Given the description of an element on the screen output the (x, y) to click on. 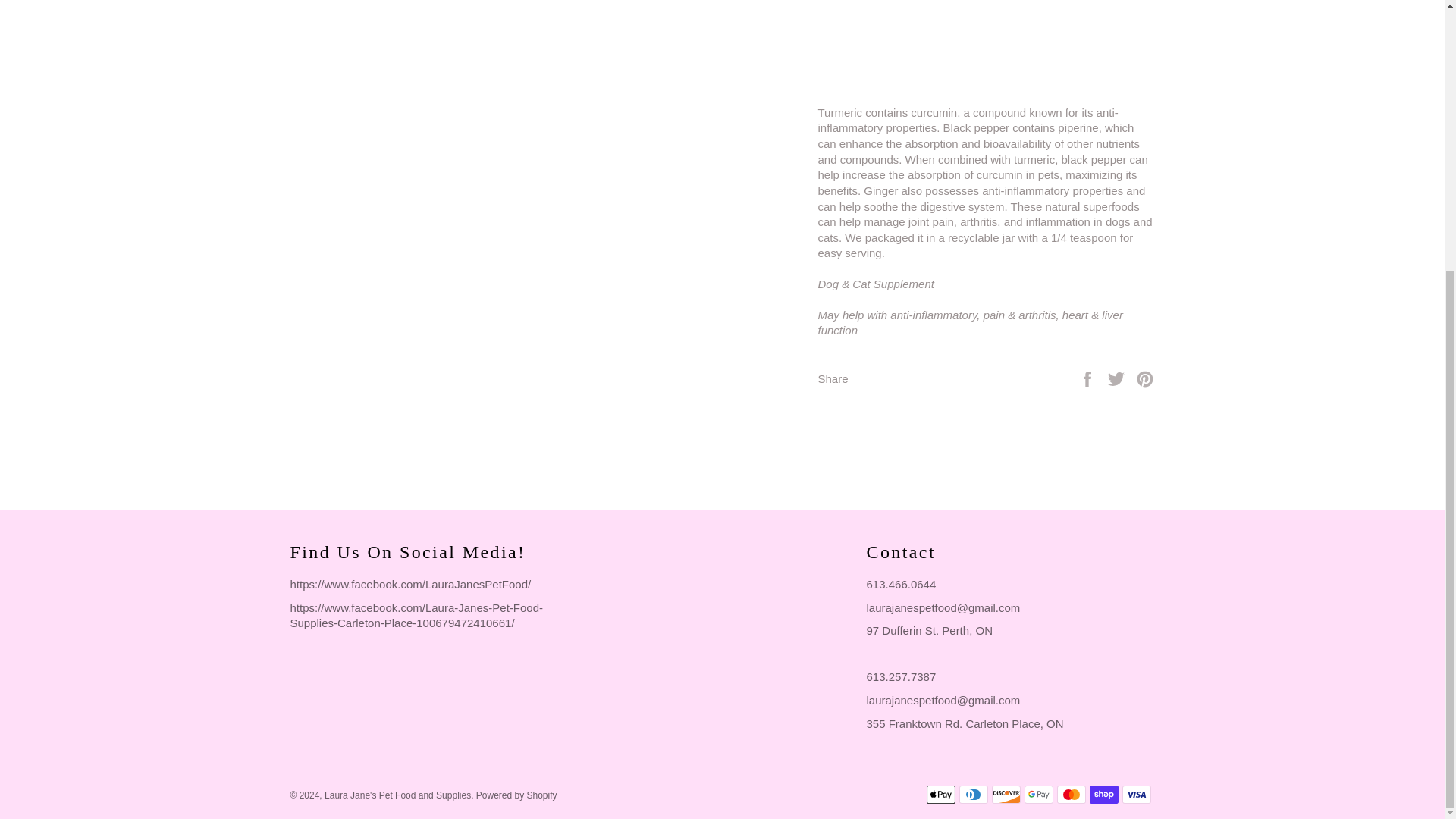
Tweet on Twitter (1117, 377)
Share on Facebook (1088, 377)
Pin on Pinterest (1144, 377)
